Given the description of an element on the screen output the (x, y) to click on. 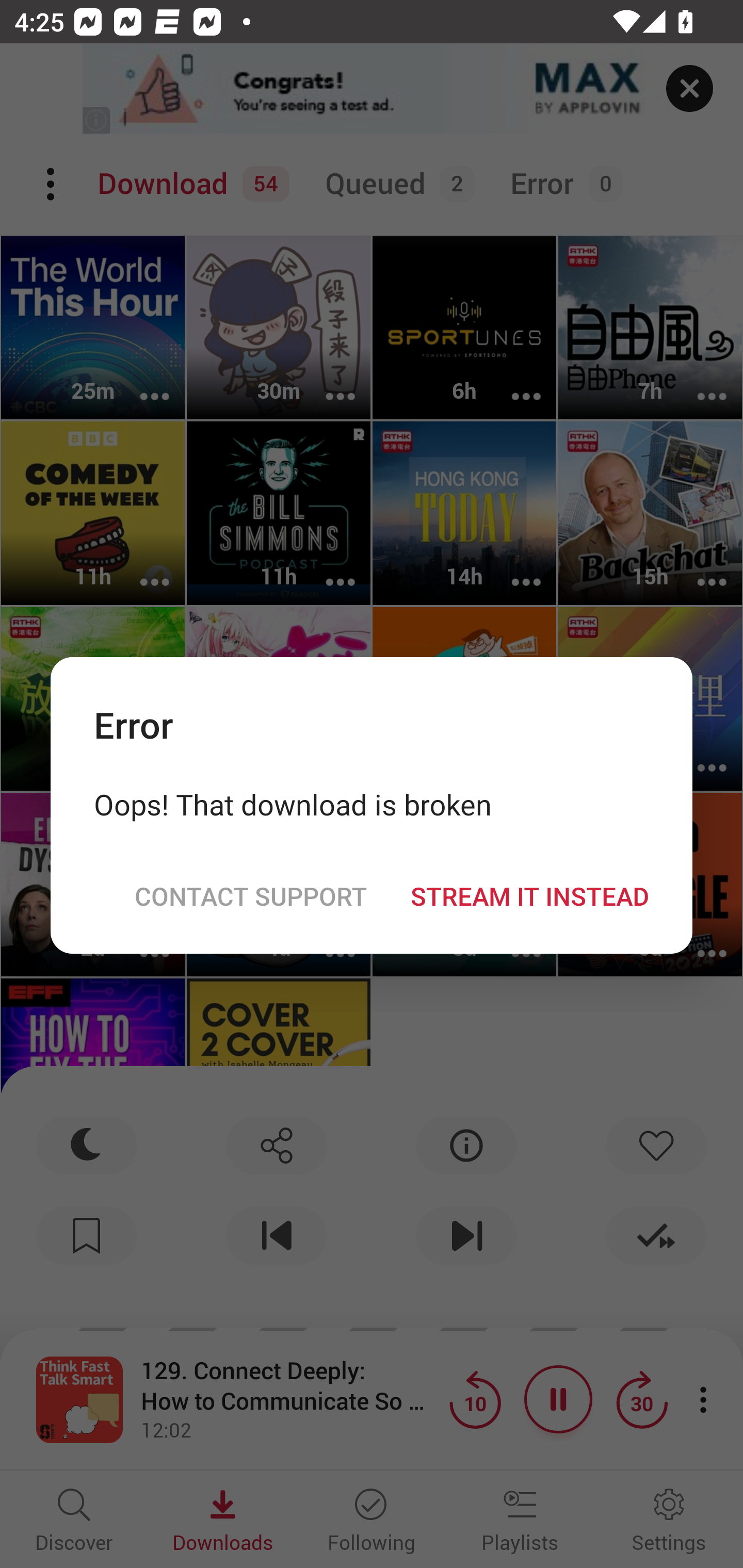
CONTACT SUPPORT (250, 895)
STREAM IT INSTEAD (529, 895)
